Given the description of an element on the screen output the (x, y) to click on. 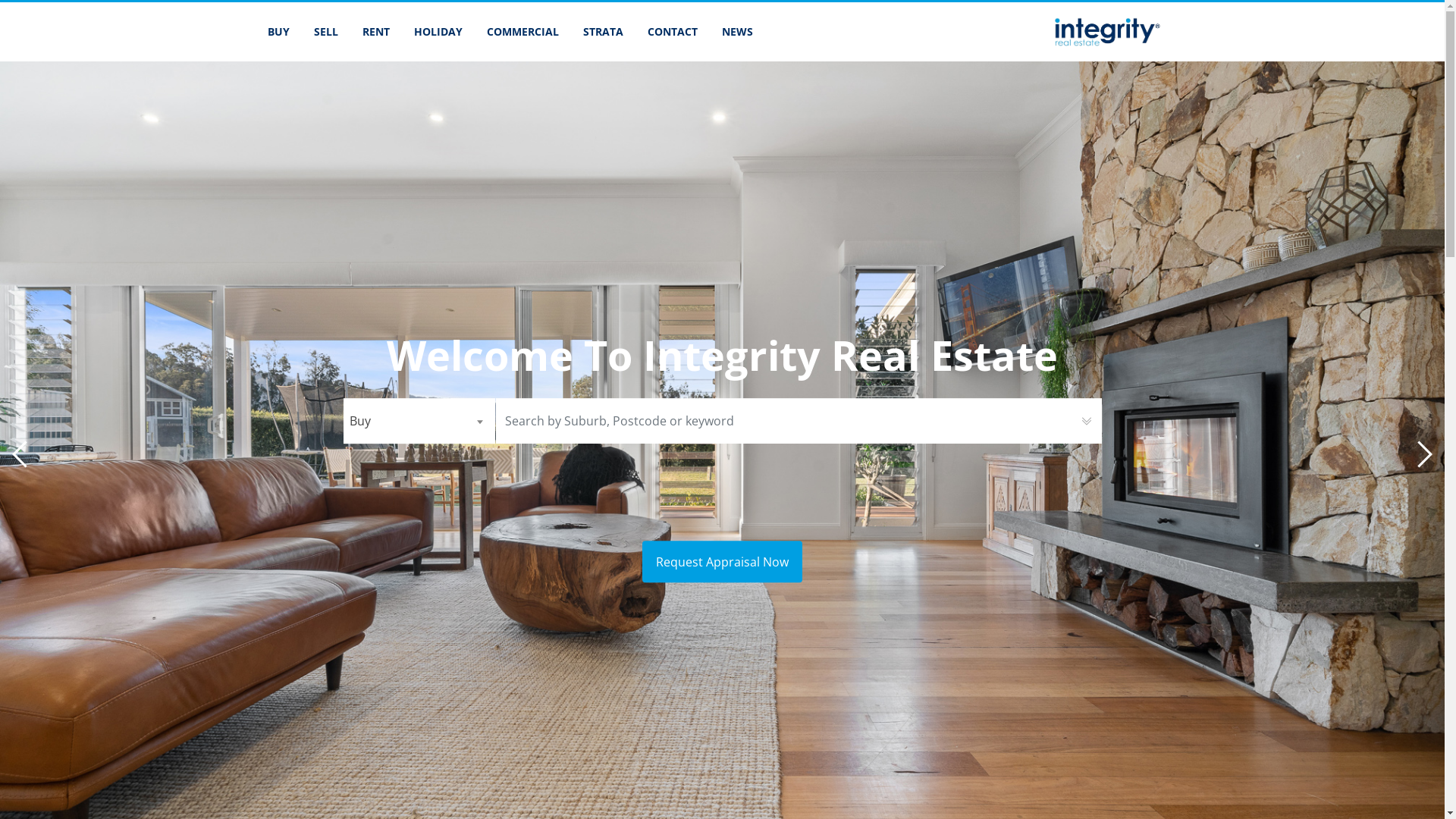
NEWS Element type: text (737, 31)
SELL Element type: text (325, 31)
RENT Element type: text (375, 31)
STRATA Element type: text (602, 31)
COMMERCIAL Element type: text (522, 31)
HOLIDAY Element type: text (438, 31)
BUY Element type: text (277, 31)
CONTACT Element type: text (672, 31)
Request Appraisal Now Element type: text (722, 562)
